Given the description of an element on the screen output the (x, y) to click on. 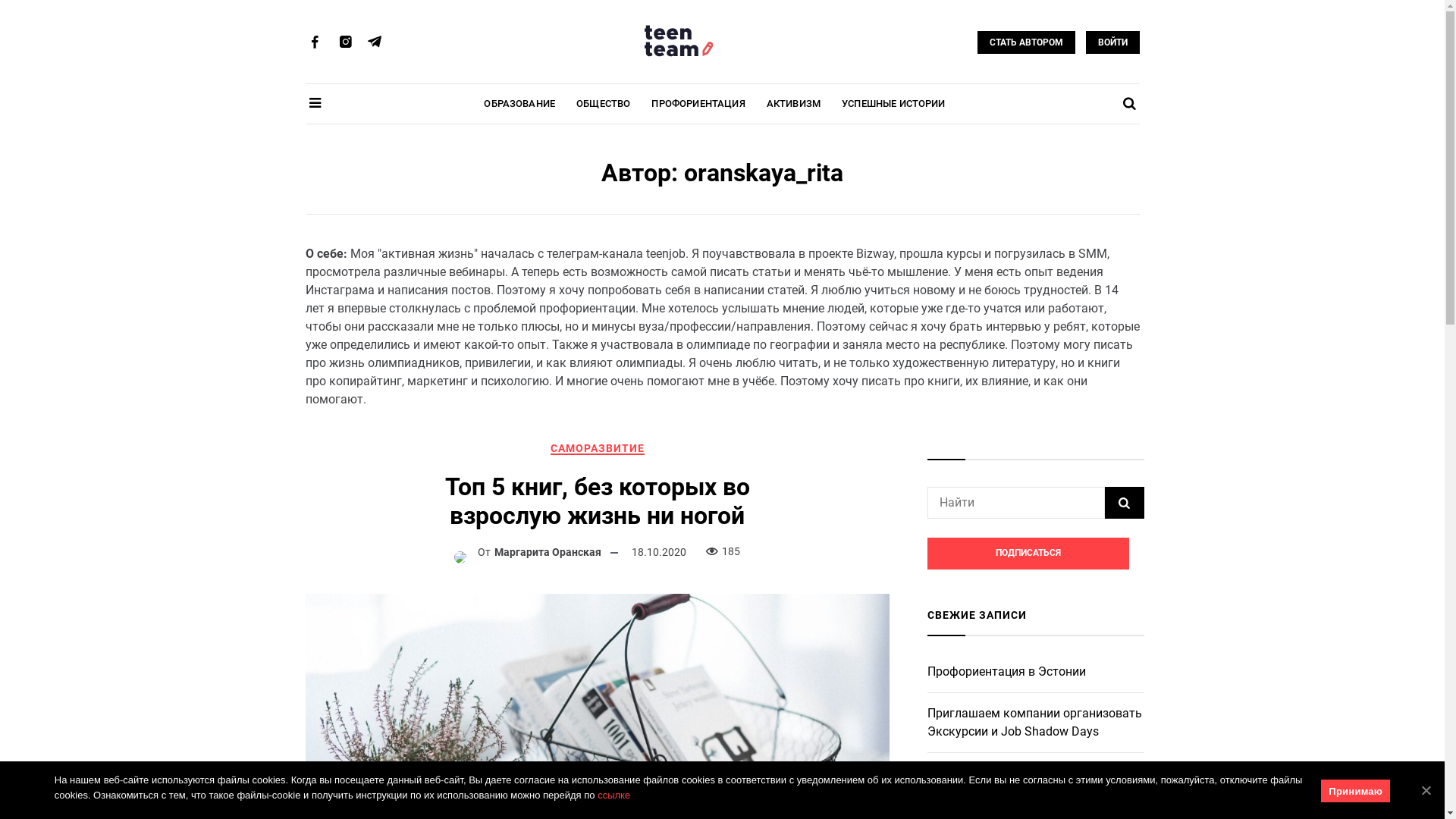
Logo Element type: hover (678, 39)
18.10.2020 Element type: text (658, 552)
